Given the description of an element on the screen output the (x, y) to click on. 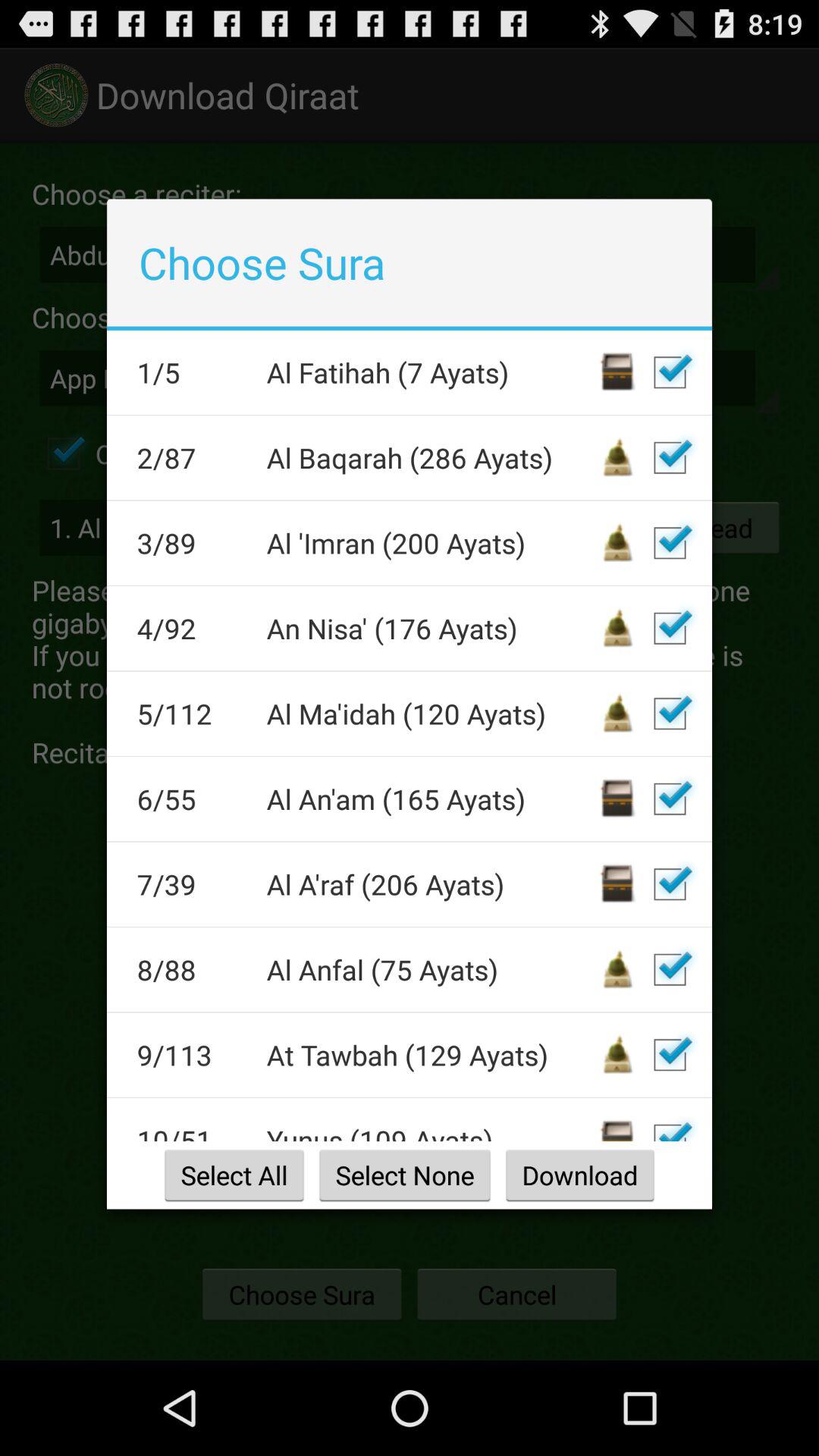
choose the icon to the right of the select all button (404, 1175)
